Given the description of an element on the screen output the (x, y) to click on. 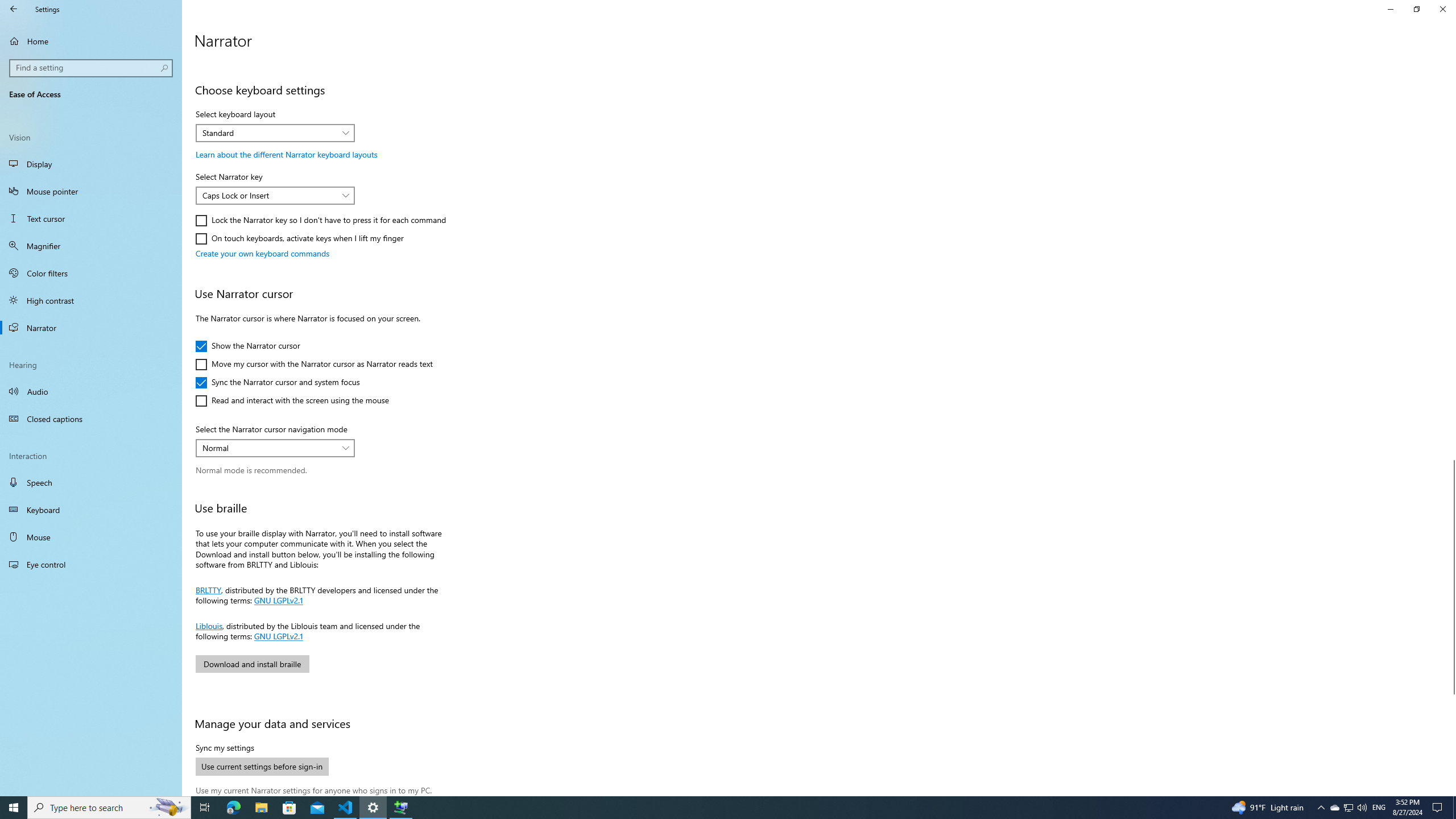
Vertical Large Decrease (1451, 261)
Caps Lock or Insert (269, 195)
Task View (204, 807)
Create your own keyboard commands (262, 253)
Mouse pointer (91, 190)
Closed captions (91, 418)
Audio (91, 390)
Search highlights icon opens search home window (167, 807)
GNU LGPLv2.1 (277, 635)
Tray Input Indicator - English (United States) (1378, 807)
Select keyboard layout (275, 132)
File Explorer (261, 807)
High contrast (91, 299)
Visual Studio Code - 1 running window (345, 807)
